Given the description of an element on the screen output the (x, y) to click on. 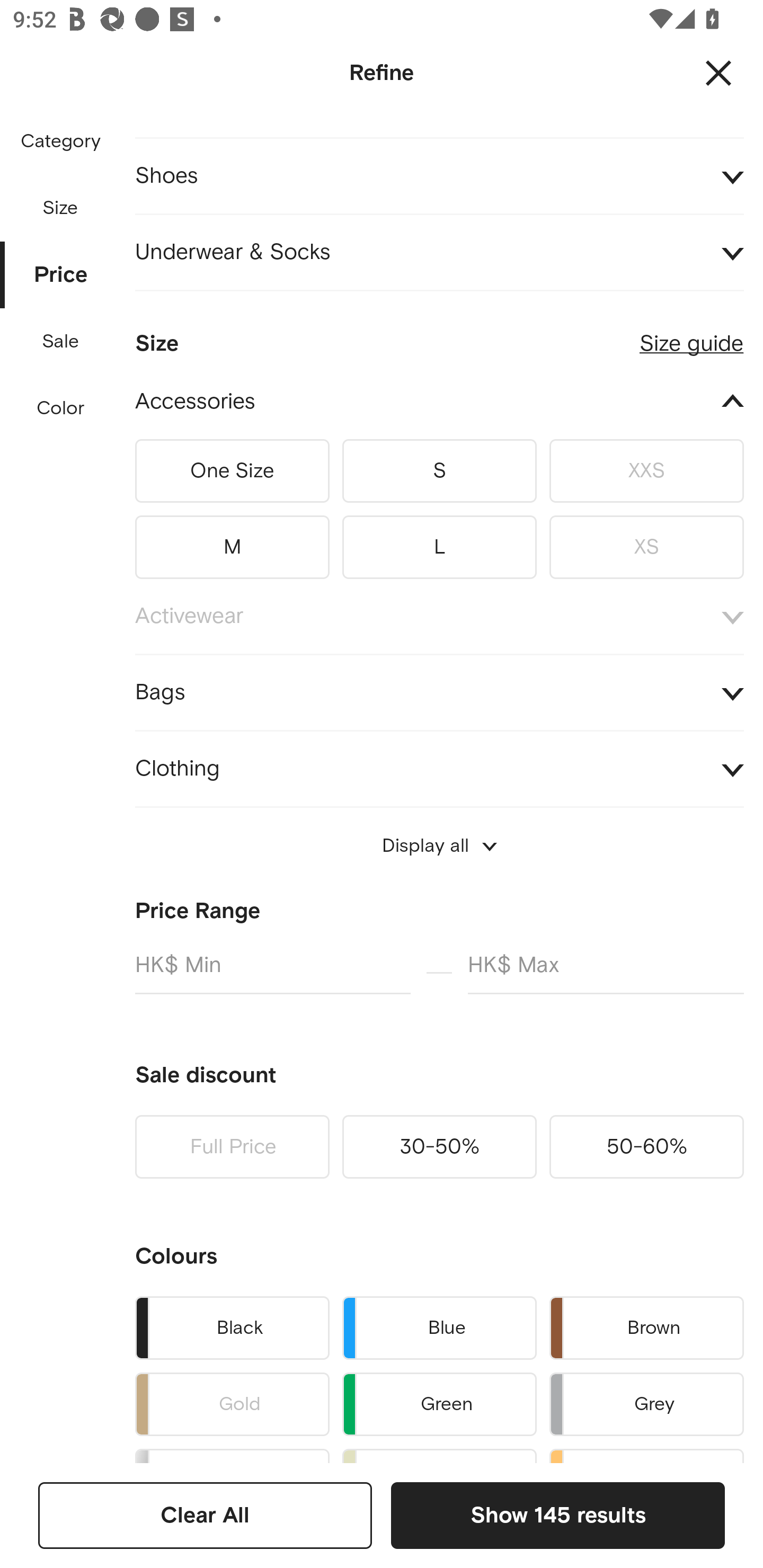
Category (60, 141)
Shoes (439, 175)
Size (60, 208)
Underwear & Socks (439, 252)
Price (60, 274)
Sale (60, 342)
Size guide (691, 335)
Accessories (439, 401)
Color (60, 408)
One Size (232, 470)
S (439, 470)
XXS (646, 470)
M (232, 543)
L (439, 543)
XS (646, 543)
Activewear (439, 616)
Bags (439, 692)
Clothing (439, 768)
Display all (439, 845)
HK$ Min (272, 972)
HK$ Max (605, 972)
Full Price (232, 1146)
30-50% (439, 1146)
50-60% (646, 1146)
Black (232, 1327)
Blue (439, 1327)
Brown (646, 1327)
Gold (232, 1403)
Green (439, 1403)
Grey (646, 1403)
Clear All (205, 1515)
Show 145 results (557, 1515)
